Given the description of an element on the screen output the (x, y) to click on. 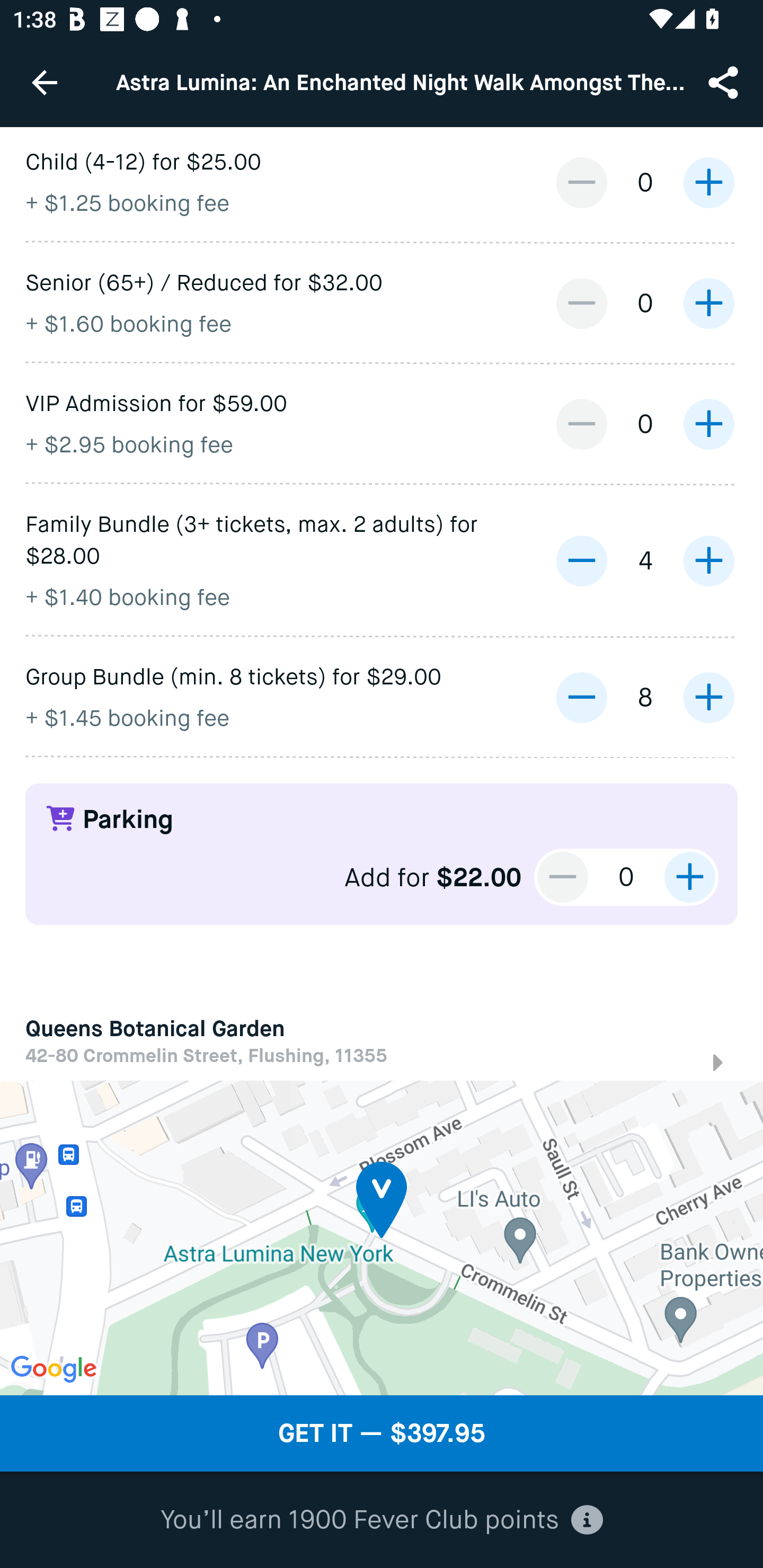
Navigate up (44, 82)
Share (724, 81)
decrease (581, 182)
increase (708, 182)
decrease (581, 302)
increase (708, 302)
decrease (581, 423)
increase (708, 423)
decrease (581, 560)
increase (708, 560)
decrease (581, 697)
increase (708, 697)
decrease (562, 876)
increase (689, 876)
Google Map Map Marker (381, 1237)
GET IT — $397.95 (381, 1433)
You’ll earn 1900 Fever Club points (381, 1519)
